Given the description of an element on the screen output the (x, y) to click on. 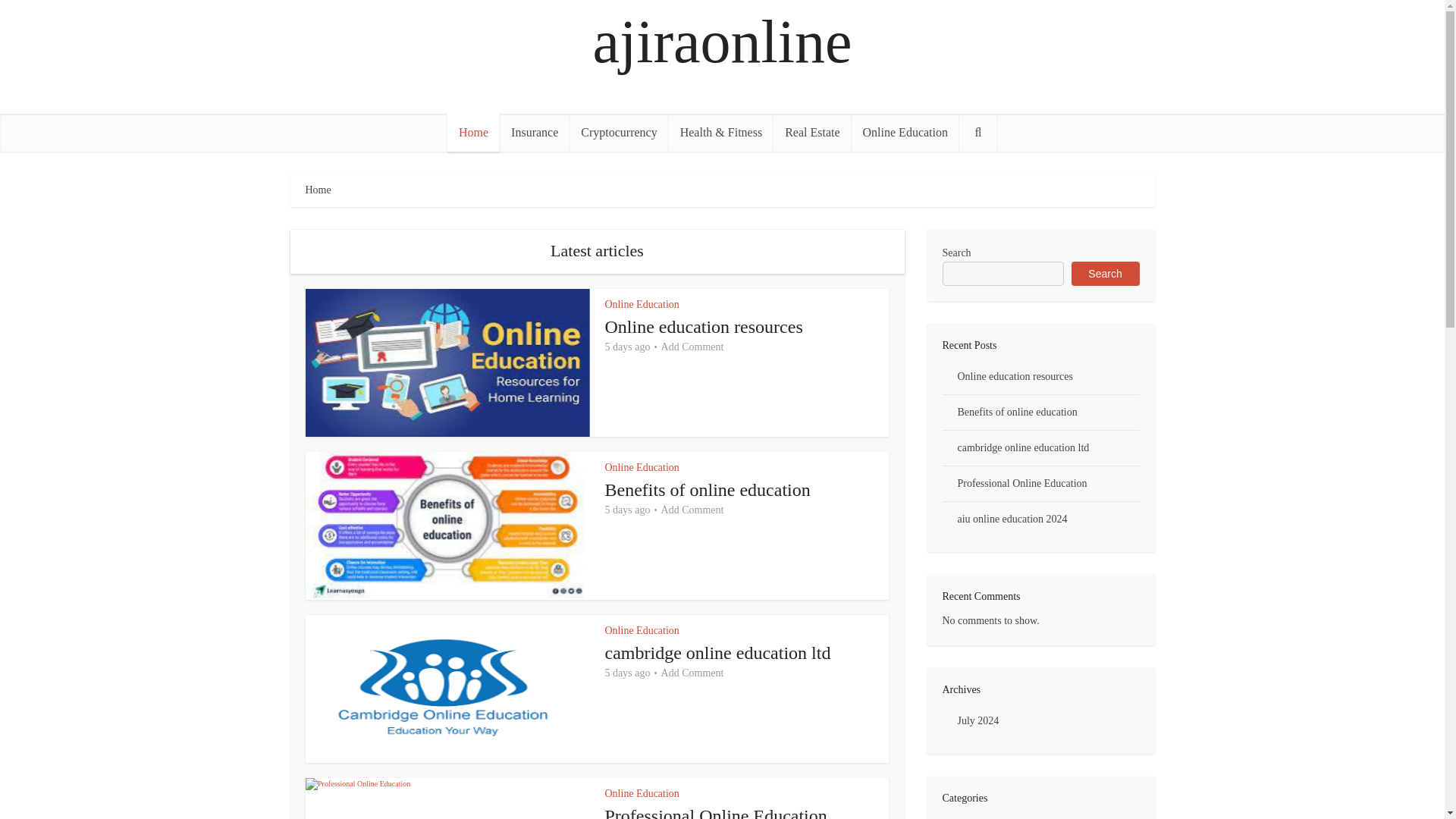
Professional Online Education (716, 812)
cambridge online education ltd (718, 652)
Cryptocurrency (618, 132)
Benefits of online education (707, 489)
ajiraonline (721, 41)
Add Comment (692, 673)
Insurance (534, 132)
Home (472, 132)
Online Education (642, 467)
Benefits of online education (707, 489)
cambridge online education ltd (718, 652)
Add Comment (692, 346)
Online Education (642, 304)
Real Estate (811, 132)
Online Education (642, 793)
